Given the description of an element on the screen output the (x, y) to click on. 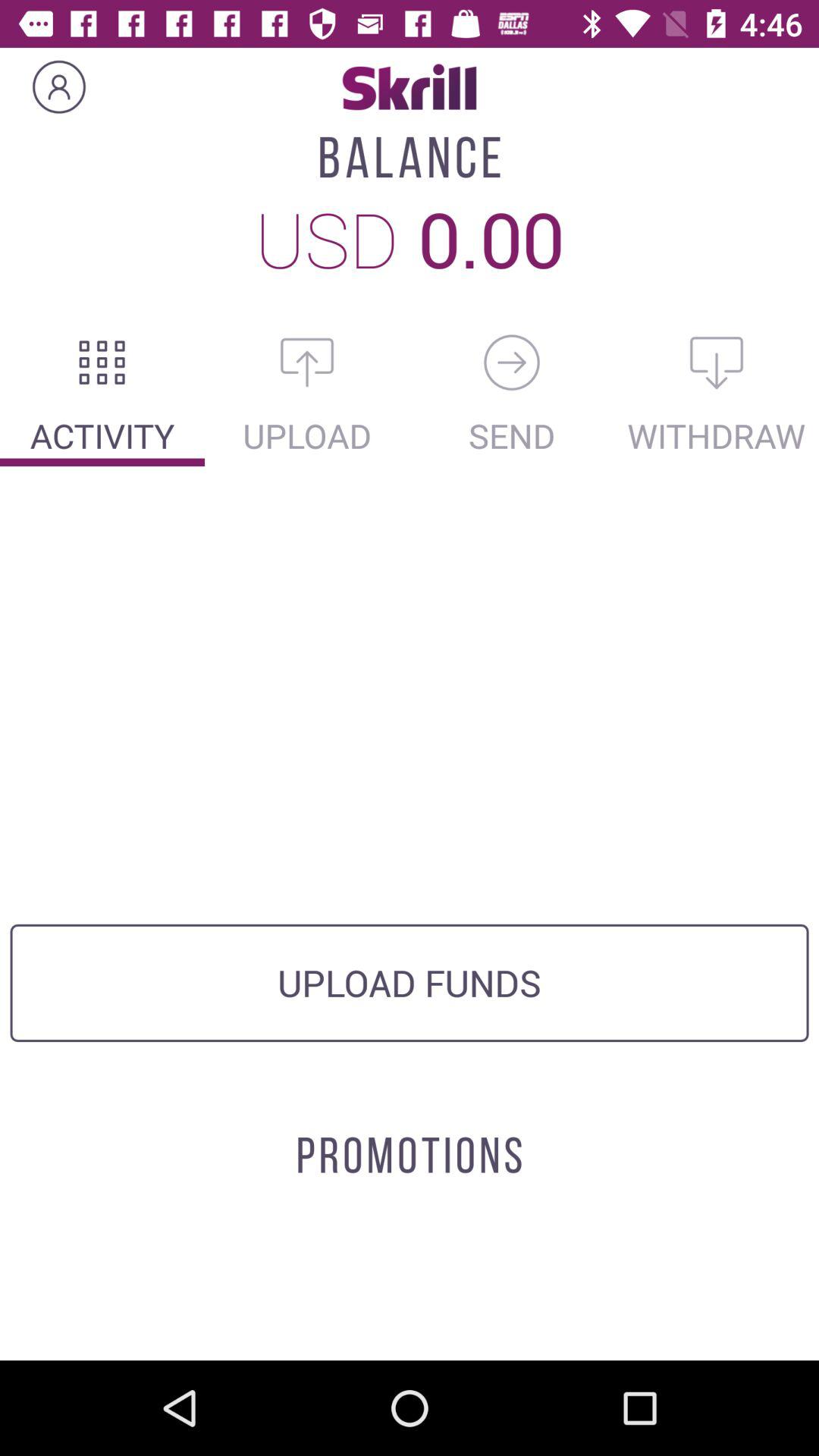
enter the activities section (102, 362)
